Given the description of an element on the screen output the (x, y) to click on. 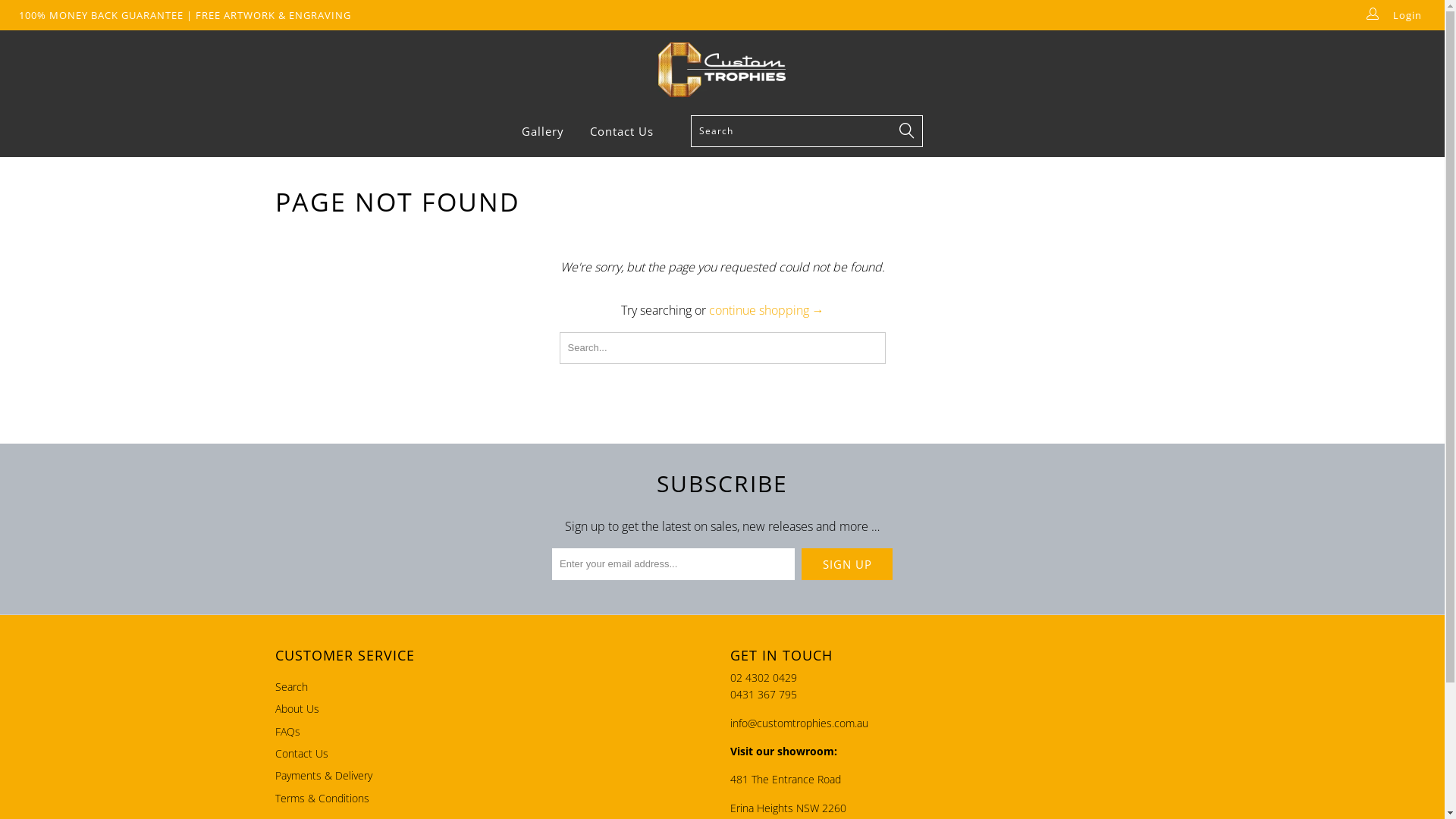
Sign Up Element type: text (846, 564)
Gallery Element type: text (542, 131)
Contact Us Element type: text (621, 131)
Search Element type: text (290, 686)
info@customtrophies.com.au Element type: text (798, 722)
Login Element type: text (1399, 15)
FAQs Element type: text (286, 731)
Payments & Delivery Element type: text (322, 775)
Contact Us Element type: text (300, 753)
Custom Trophies Element type: hover (722, 68)
100% MONEY BACK GUARANTEE | FREE ARTWORK & ENGRAVING Element type: text (184, 15)
About Us Element type: text (296, 708)
Terms & Conditions Element type: text (321, 797)
